Given the description of an element on the screen output the (x, y) to click on. 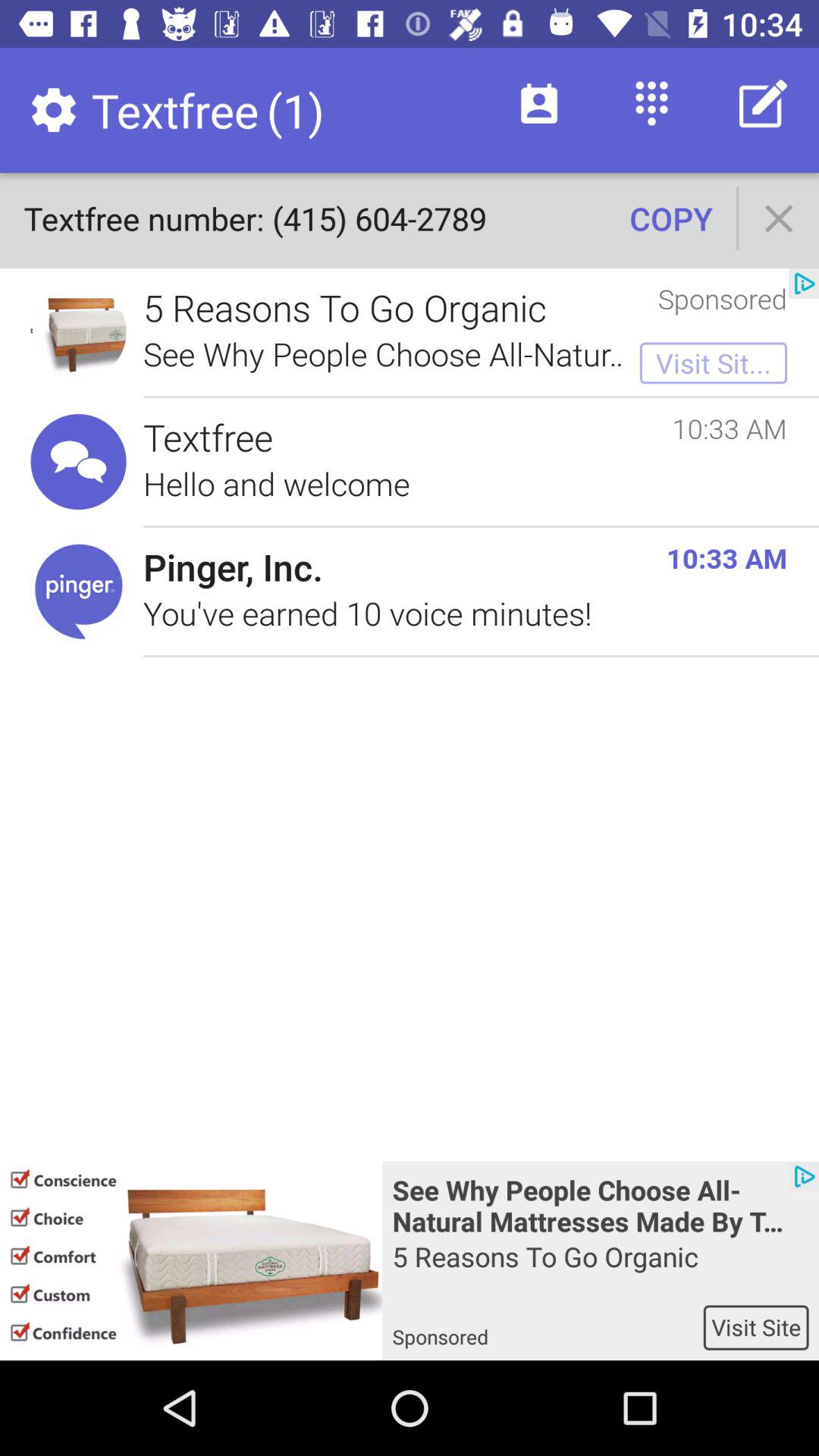
jump to visit site (755, 1327)
